Given the description of an element on the screen output the (x, y) to click on. 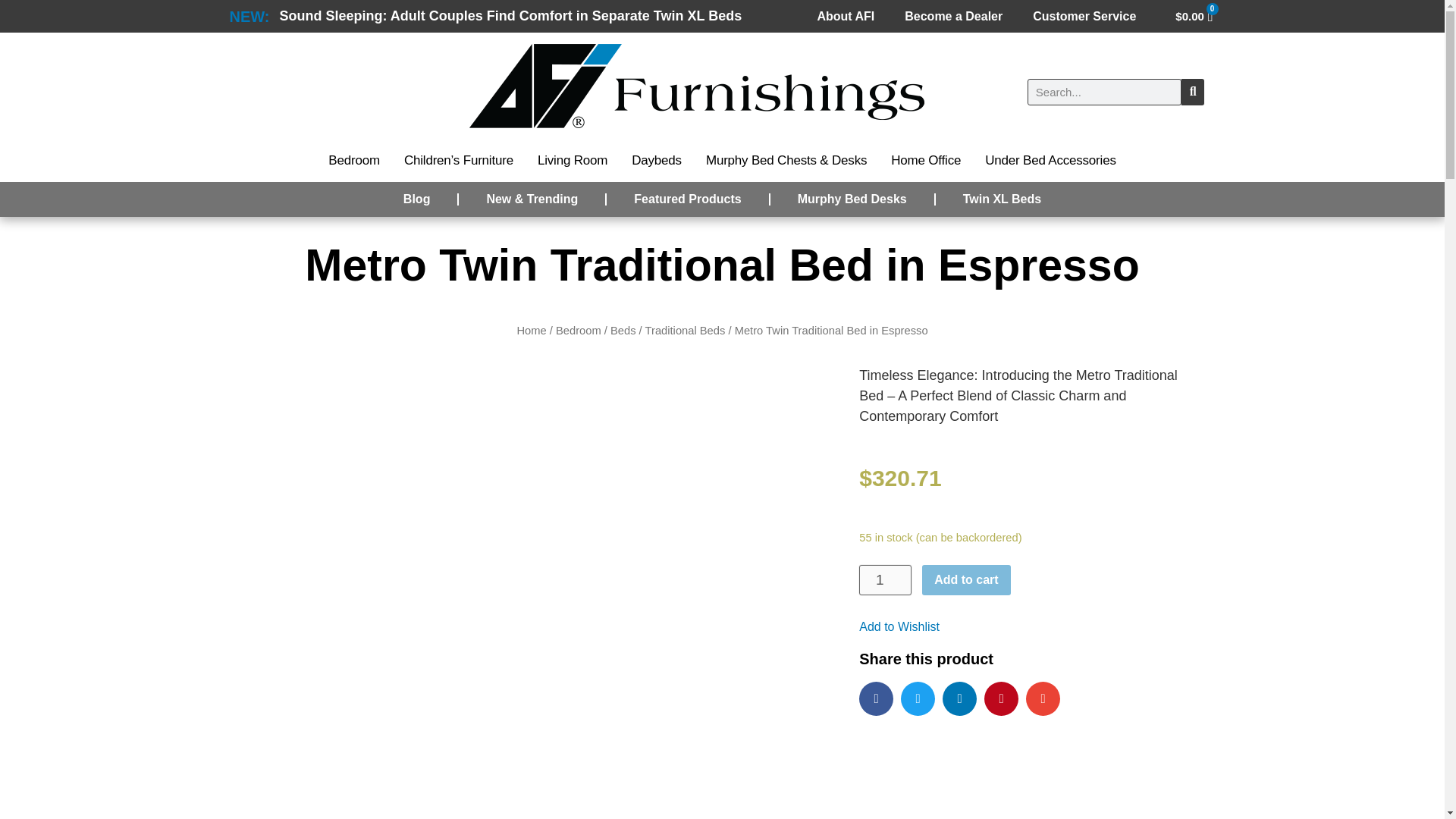
About AFI (845, 15)
Home Office (925, 160)
Daybeds (657, 160)
Living Room (572, 160)
Bedroom (353, 160)
NEW: (248, 15)
Customer Service (1084, 15)
1 (885, 580)
Under Bed Accessories (1050, 160)
